Given the description of an element on the screen output the (x, y) to click on. 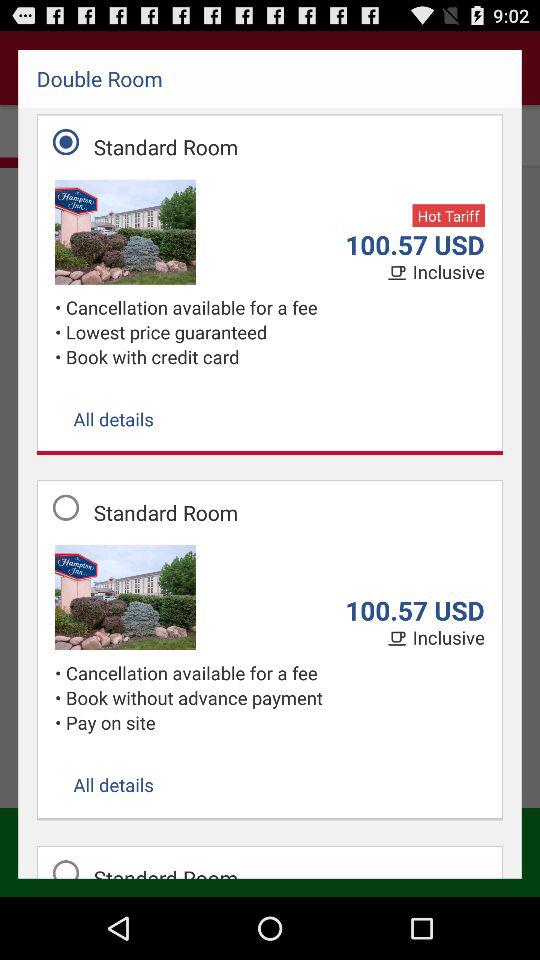
press the item next to the inclusive icon (399, 273)
